Given the description of an element on the screen output the (x, y) to click on. 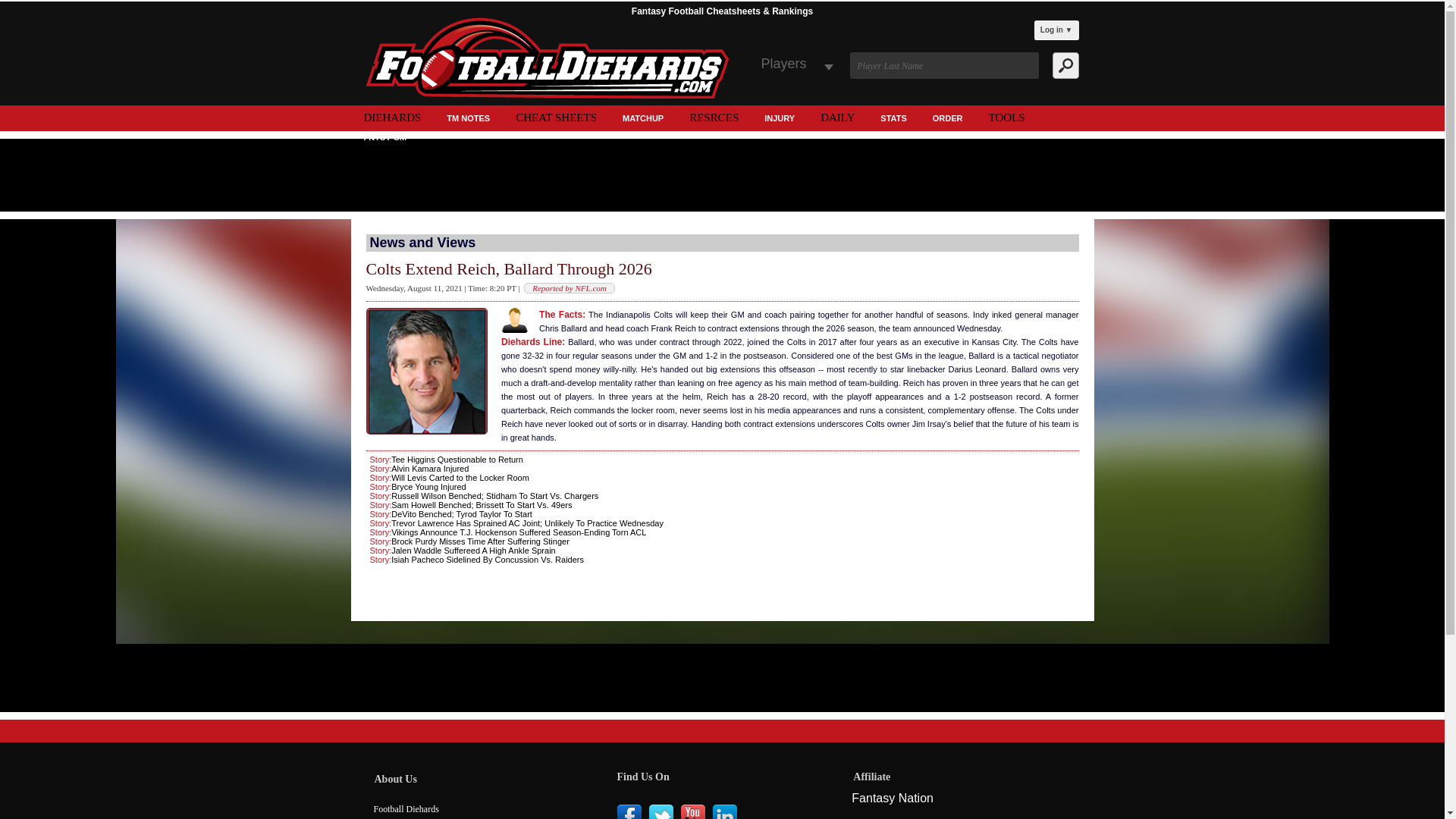
DIEHARDS (392, 117)
TM NOTES (467, 119)
CHEAT SHEETS (555, 117)
Cheat Sheets (555, 117)
MATCHUP (643, 119)
Resrces (713, 117)
Diehards (392, 117)
Tm Notes (467, 119)
RESRCES (713, 117)
Matchup (643, 119)
